Given the description of an element on the screen output the (x, y) to click on. 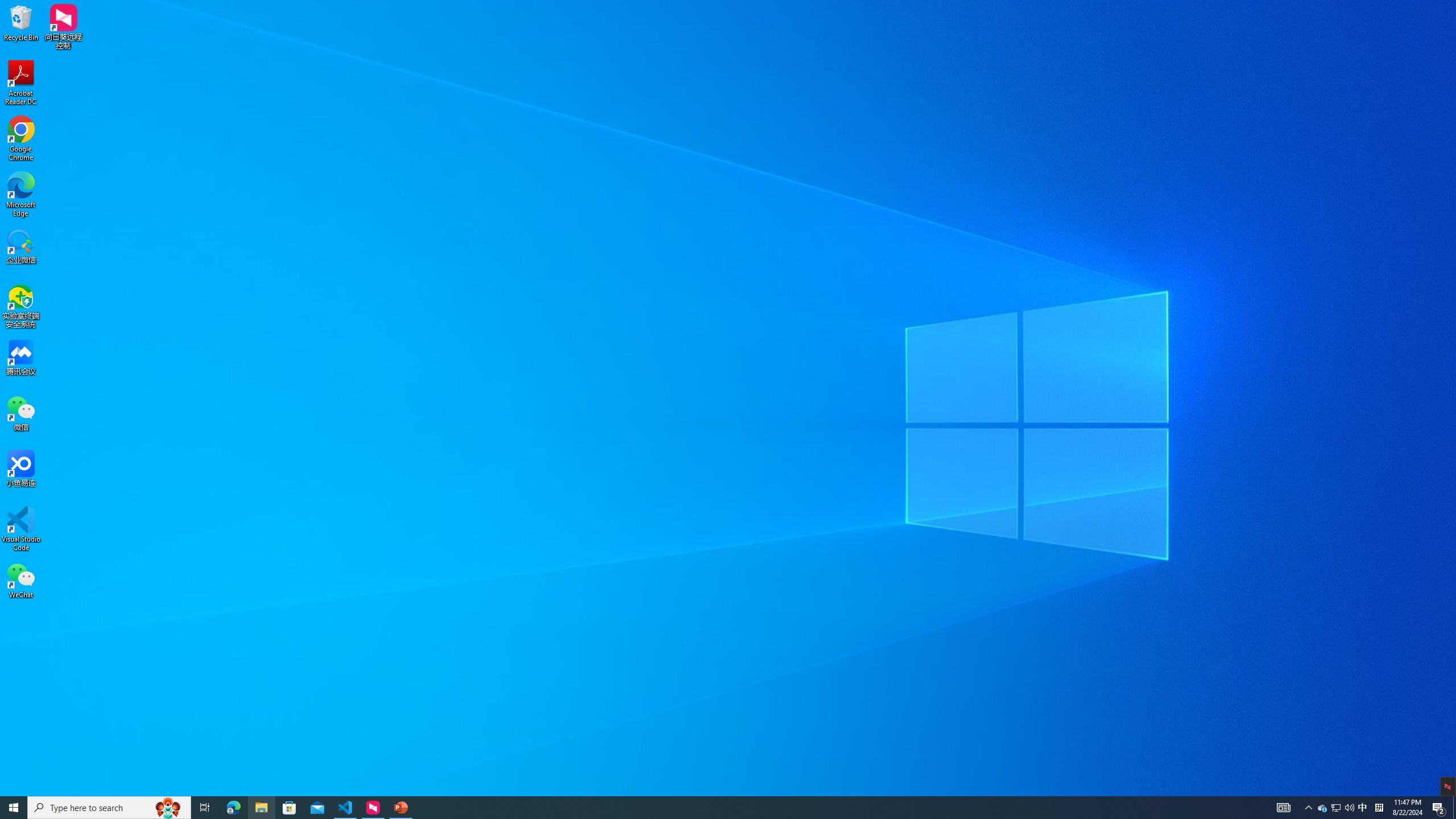
Shape Outline Blue, Accent 1 (675, 56)
Format Painter (58, 72)
